Given the description of an element on the screen output the (x, y) to click on. 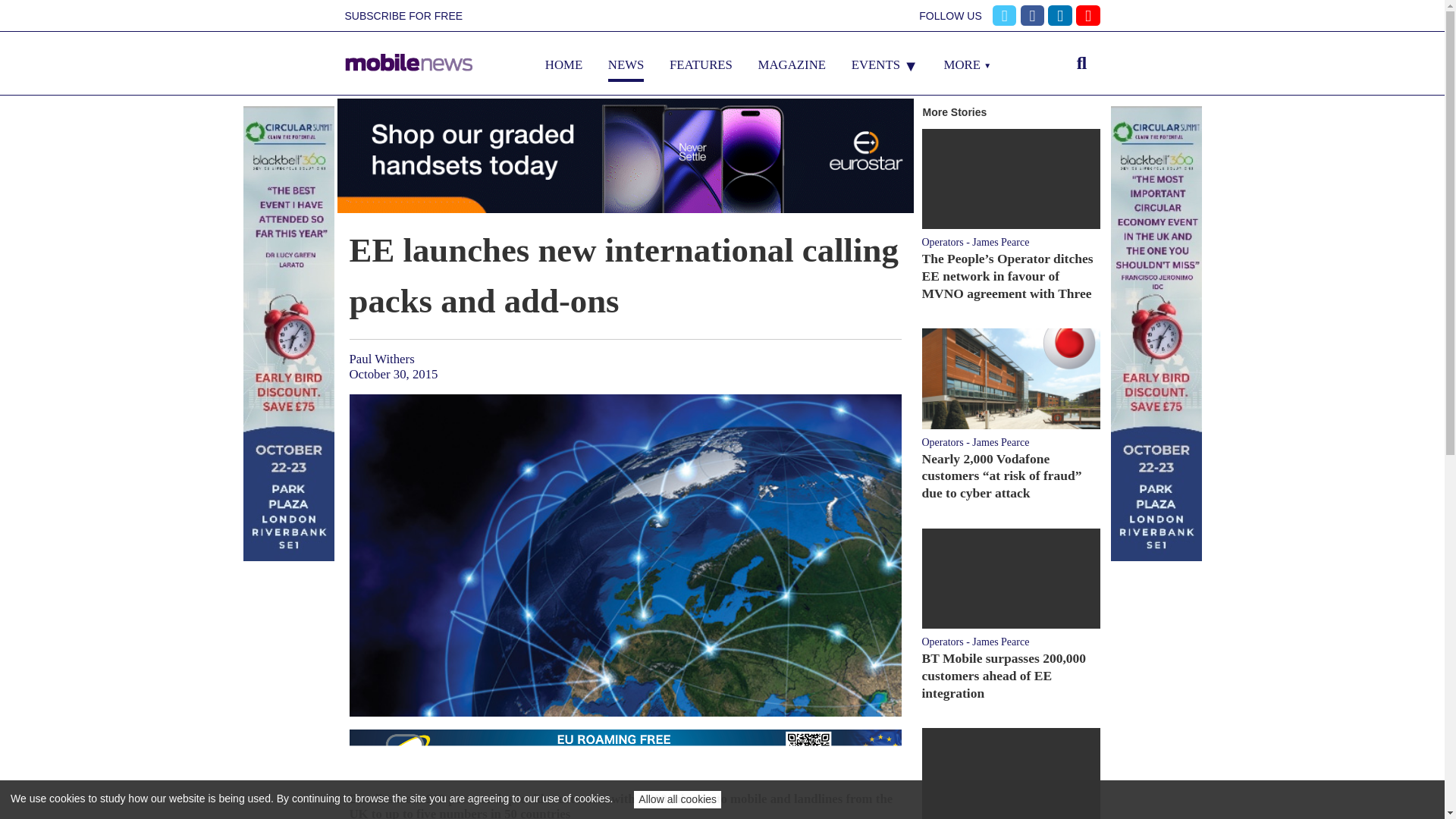
SUBSCRIBE FOR FREE (403, 15)
FEATURES (700, 64)
HOME (563, 64)
NEWS (626, 64)
MAGAZINE (792, 64)
